Given the description of an element on the screen output the (x, y) to click on. 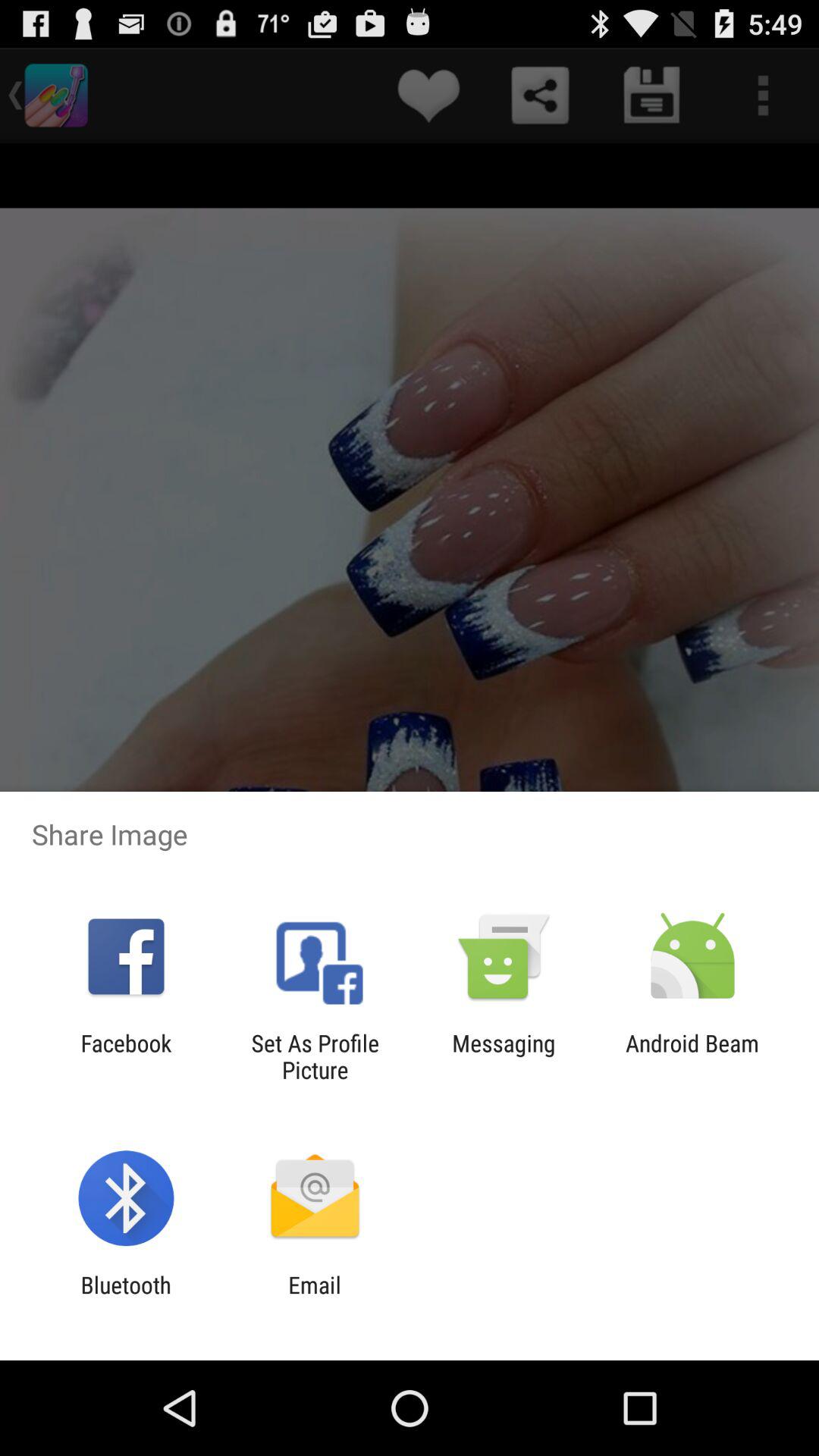
turn off icon to the left of email (125, 1298)
